Given the description of an element on the screen output the (x, y) to click on. 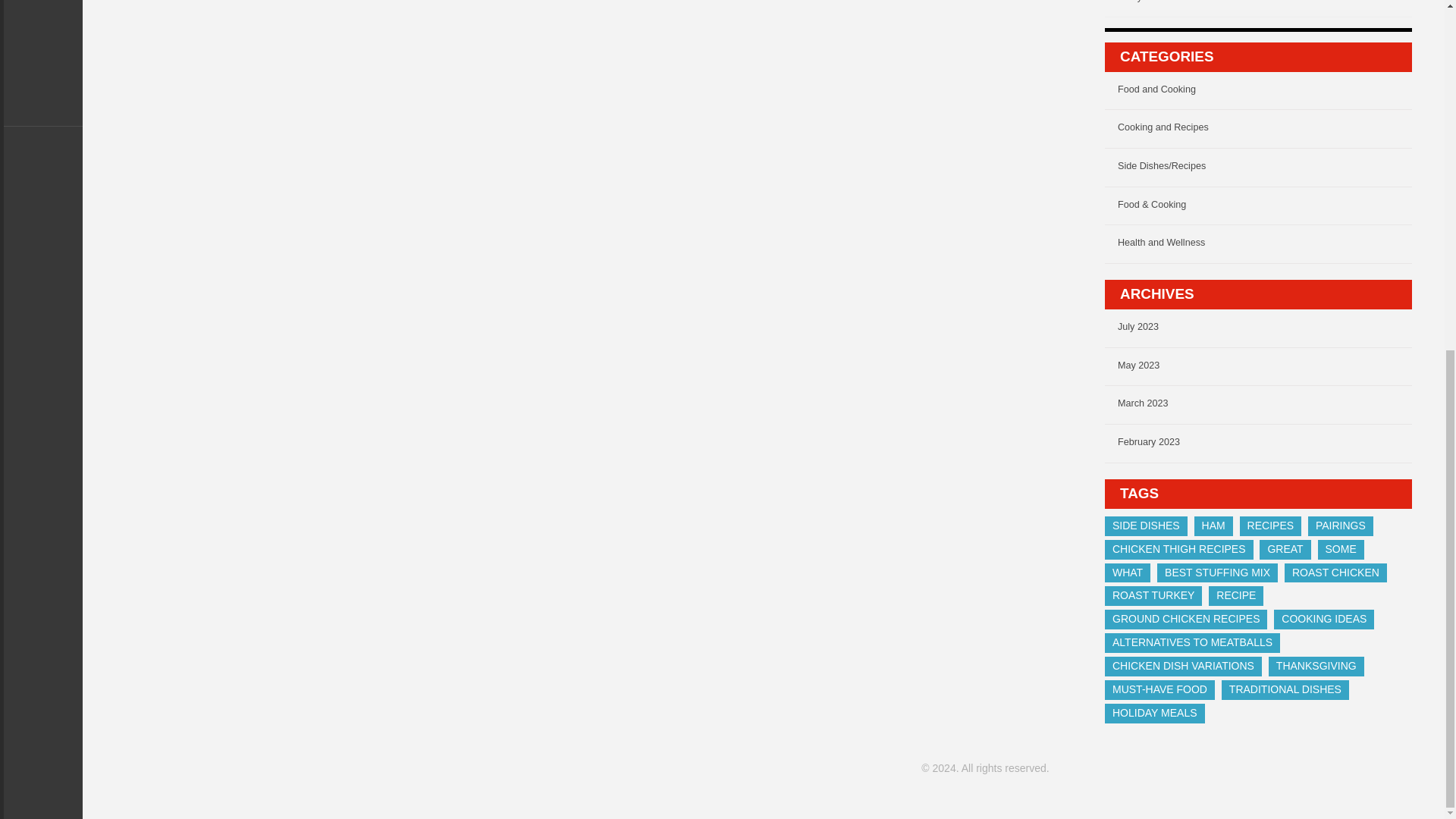
PAIRINGS (1340, 526)
RECIPES (1270, 526)
BEST STUFFING MIX (1217, 573)
Cooking and Recipes (1265, 131)
Food and Cooking (1265, 93)
March 2023 (1265, 407)
CHICKEN THIGH RECIPES (1179, 549)
Health and Wellness (1265, 246)
SIDE DISHES (1146, 526)
WHAT (1127, 573)
July 2023 (1265, 330)
May 2023 (1265, 369)
HAM (1213, 526)
ROAST CHICKEN (1335, 573)
February 2023 (1265, 446)
